Given the description of an element on the screen output the (x, y) to click on. 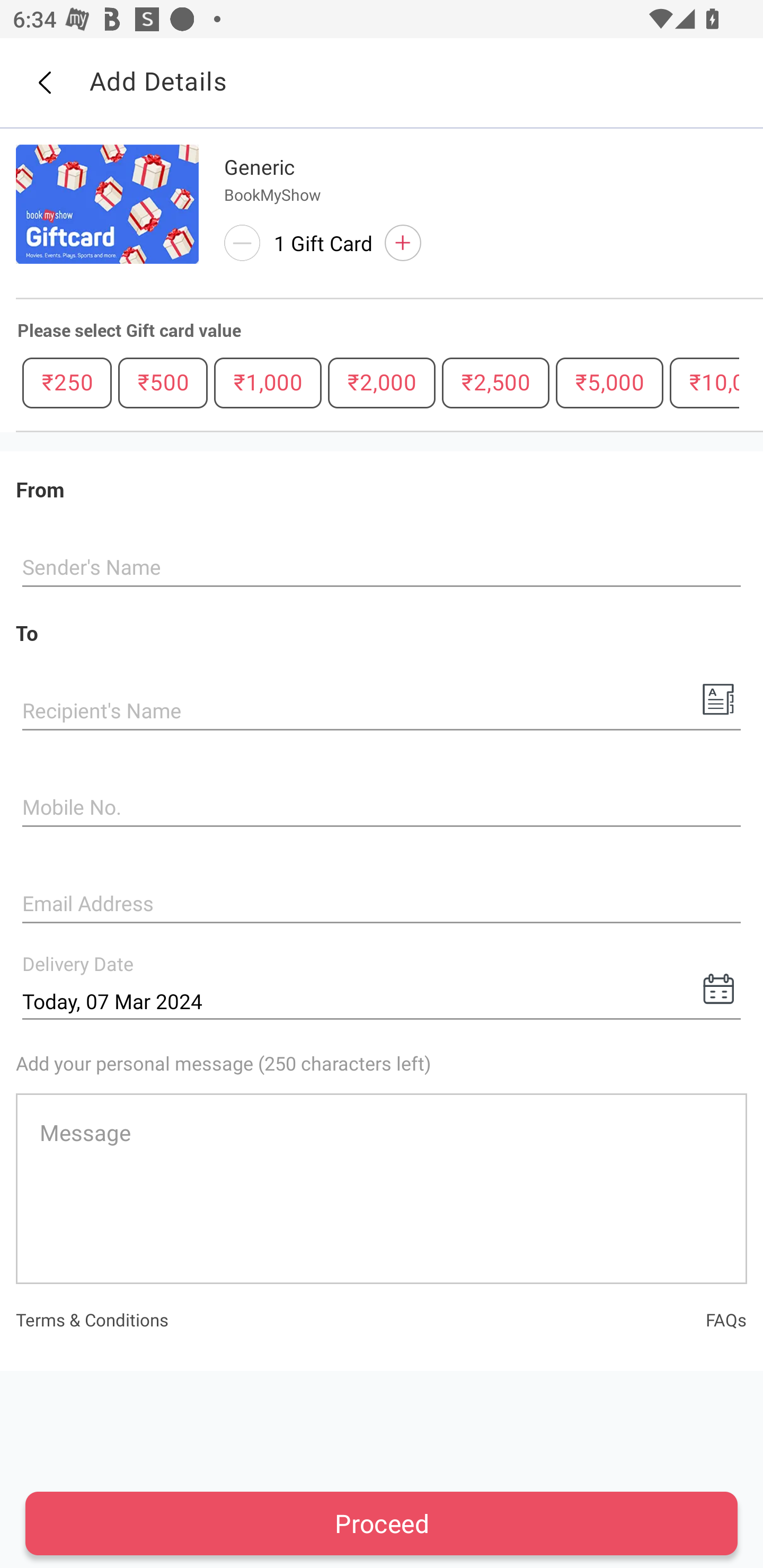
Back (44, 82)
Minus (242, 242)
Plus (403, 242)
₹250 (67, 382)
₹500 (162, 382)
₹1,000 (267, 382)
₹2,000 (381, 382)
₹2,500 (495, 382)
₹5,000 (609, 382)
Sender's Name (381, 567)
Recipient's Name (381, 712)
Mobile No. (381, 807)
Email Address (381, 905)
Today, 07 Mar 2024 (381, 1000)
Message (381, 1188)
FAQs (725, 1319)
Proceed (381, 1523)
